Given the description of an element on the screen output the (x, y) to click on. 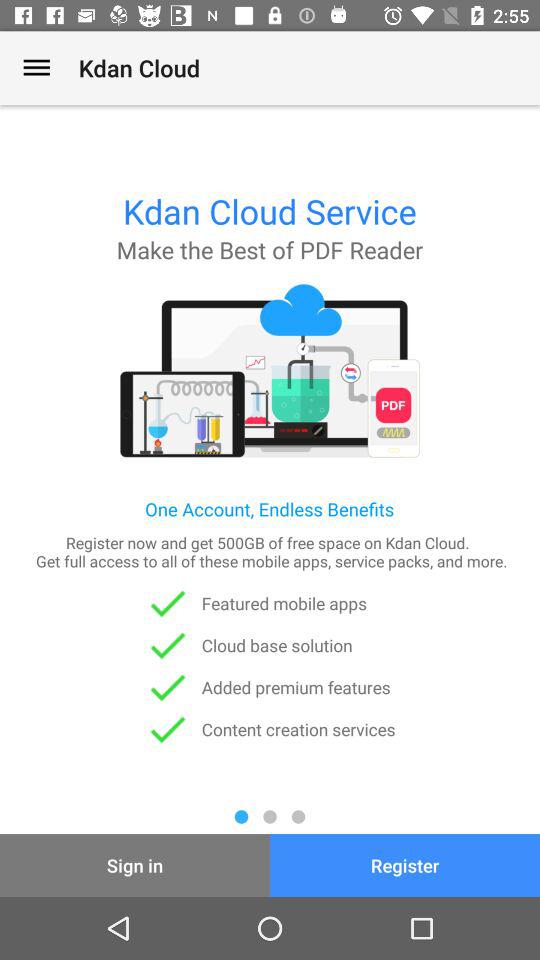
swipe to the sign in item (135, 864)
